Given the description of an element on the screen output the (x, y) to click on. 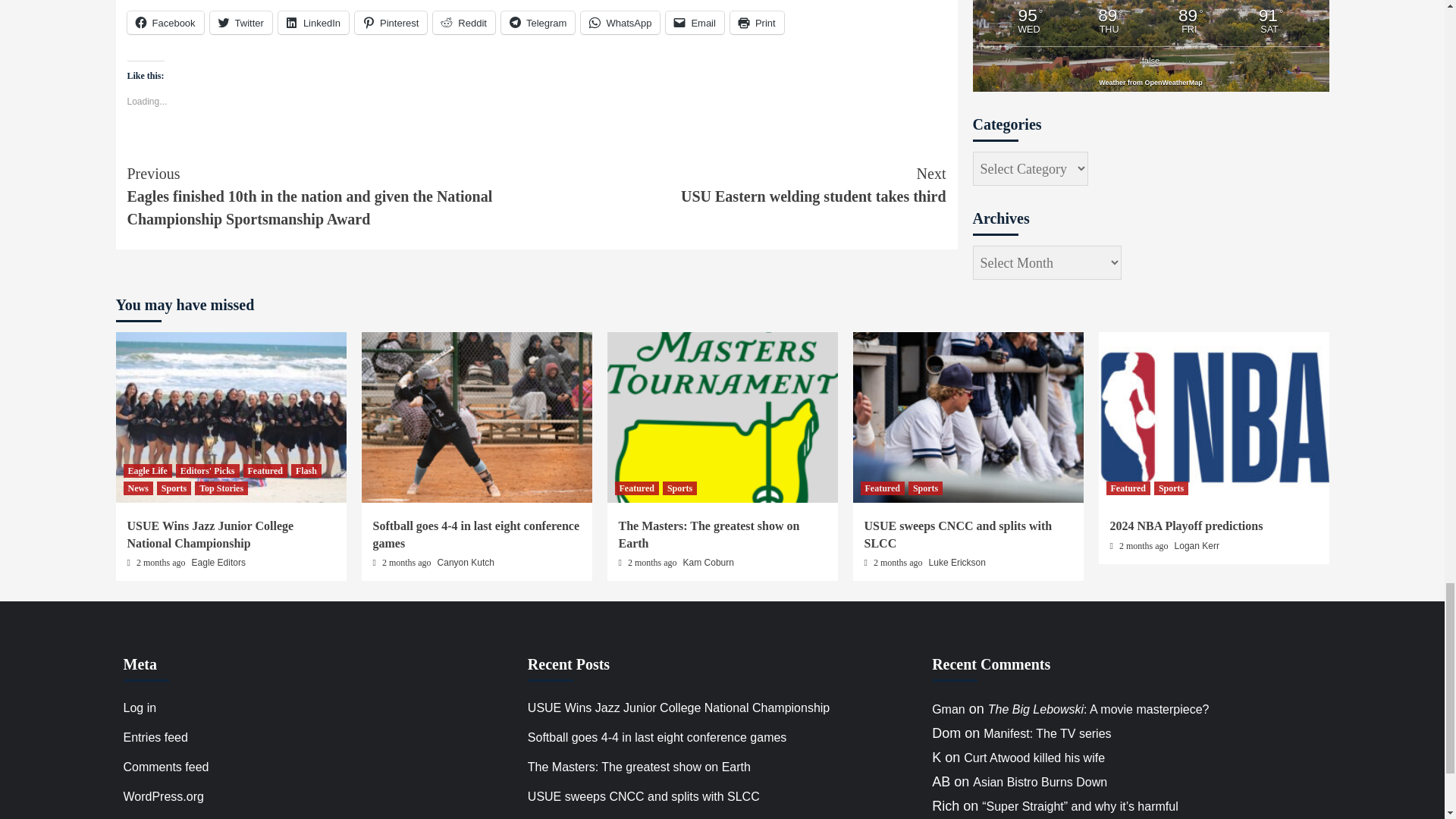
Click to share on Reddit (463, 22)
Click to print (757, 22)
Posts by Kam Coburn (707, 562)
Click to share on Twitter (240, 22)
Click to share on WhatsApp (619, 22)
Click to share on Pinterest (390, 22)
Click to share on Facebook (165, 22)
Posts by Luke Erickson (956, 562)
Click to email a link to a friend (694, 22)
Click to share on LinkedIn (313, 22)
Posts by Canyon Kutch (466, 562)
Posts by Logan Kerr (1197, 545)
Posts by Eagle Editors (219, 562)
Click to share on Telegram (537, 22)
